Given the description of an element on the screen output the (x, y) to click on. 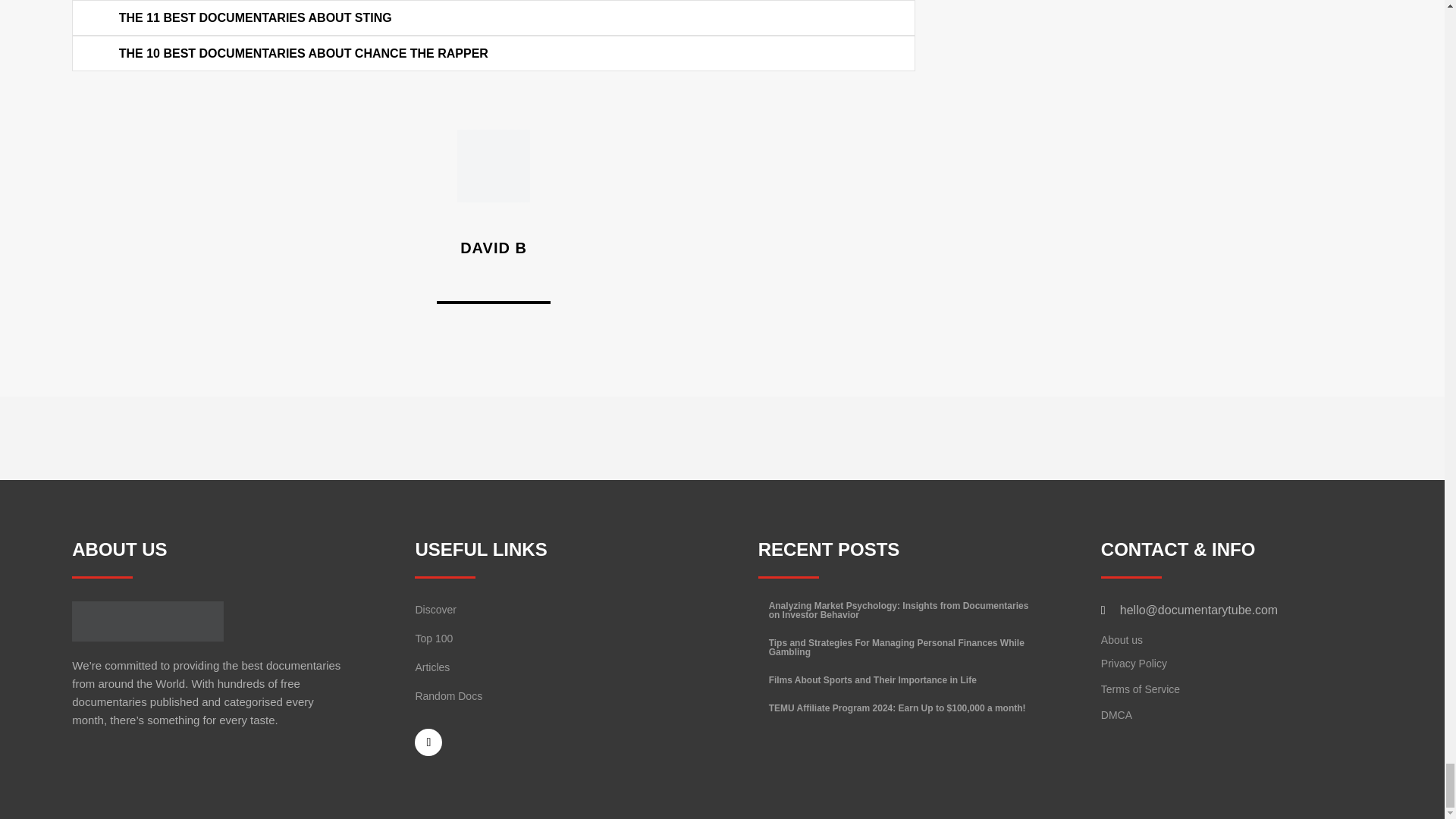
Follow on Facebook (428, 741)
dc-removebg-preview (147, 621)
THE 10 BEST DOCUMENTARIES ABOUT CHANCE THE RAPPER (303, 52)
THE 11 BEST DOCUMENTARIES ABOUT STING (255, 17)
